Given the description of an element on the screen output the (x, y) to click on. 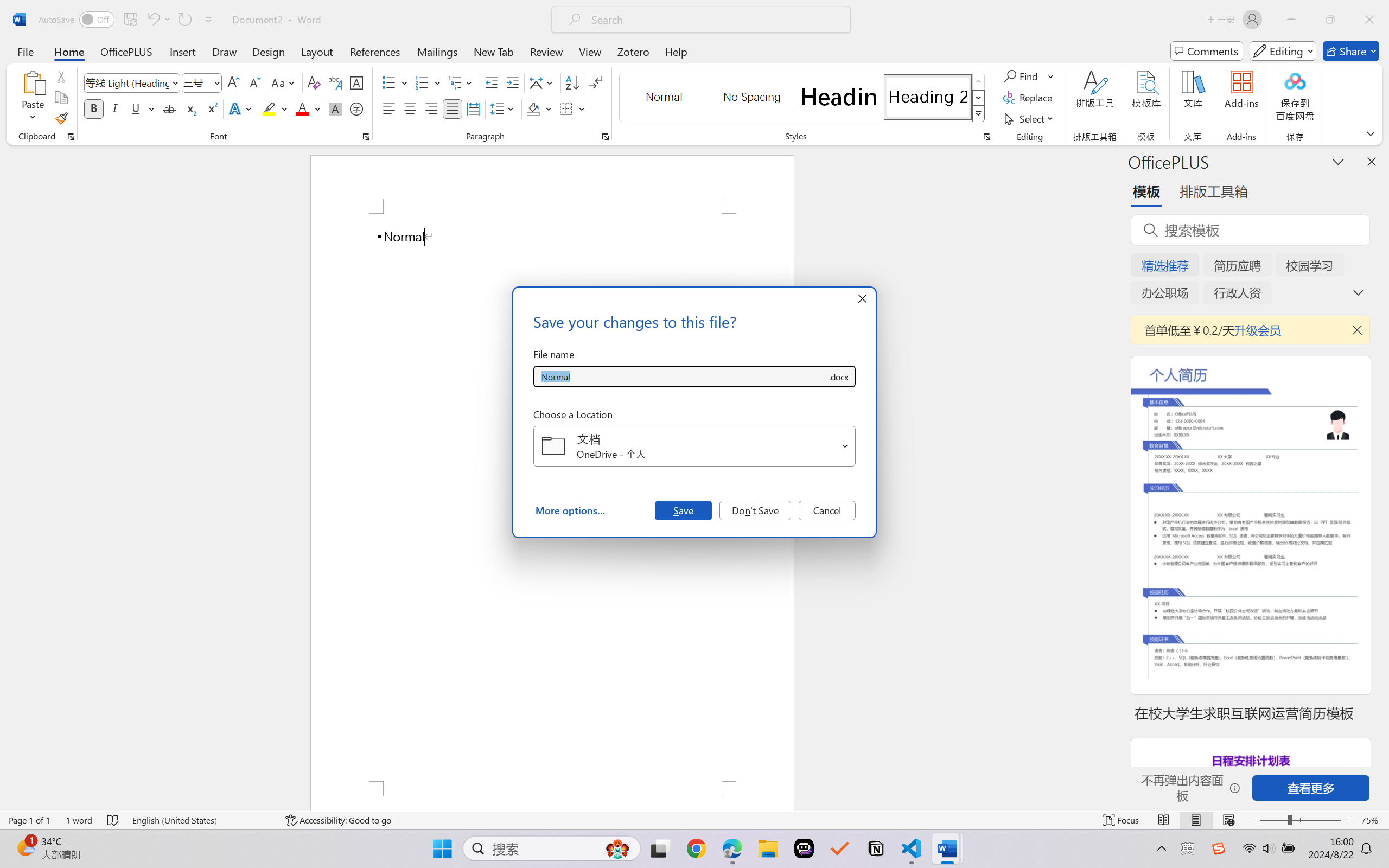
Font Color (308, 108)
Replace... (1029, 97)
Class: MsoCommandBar (694, 819)
Accessibility Checker Accessibility: Good to go (338, 819)
Clear Formatting (313, 82)
Ribbon Display Options (1370, 132)
Office Clipboard... (70, 136)
Font Color Red (302, 108)
Class: NetUIScrollBar (1111, 477)
Notion (875, 848)
Font Size (201, 82)
File Tab (24, 51)
